Given the description of an element on the screen output the (x, y) to click on. 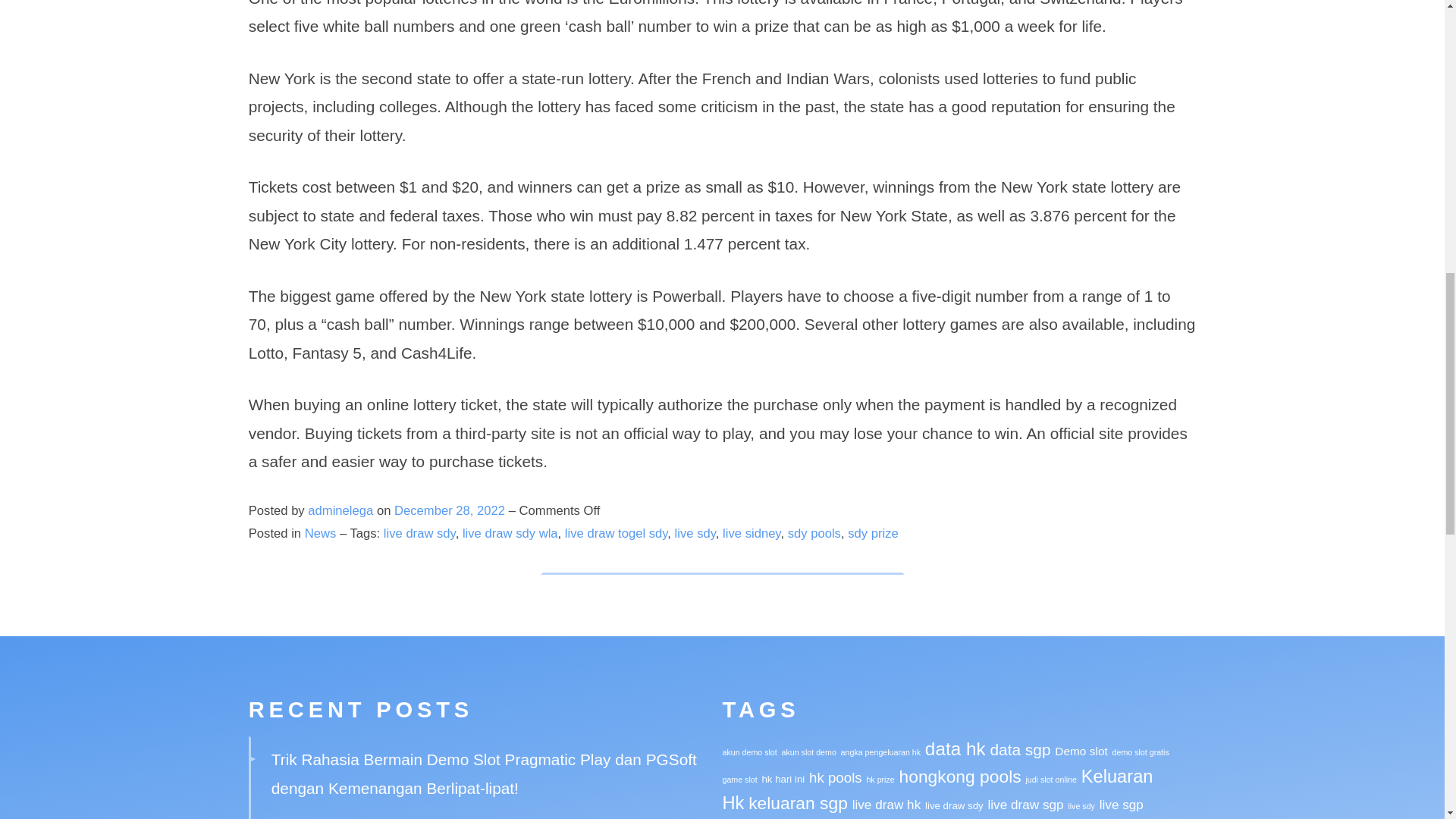
live draw hk (886, 804)
Keluaran Hk (937, 790)
demo slot gratis (1140, 751)
game slot (739, 778)
live draw sdy wla (510, 533)
live draw sdy (419, 533)
akun slot demo (808, 751)
judi slot online (1051, 778)
live draw sdy (954, 805)
data hk (954, 748)
hongkong pools (960, 776)
akun demo slot (749, 751)
sdy prize (872, 533)
live sdy (695, 533)
hk pools (835, 777)
